Given the description of an element on the screen output the (x, y) to click on. 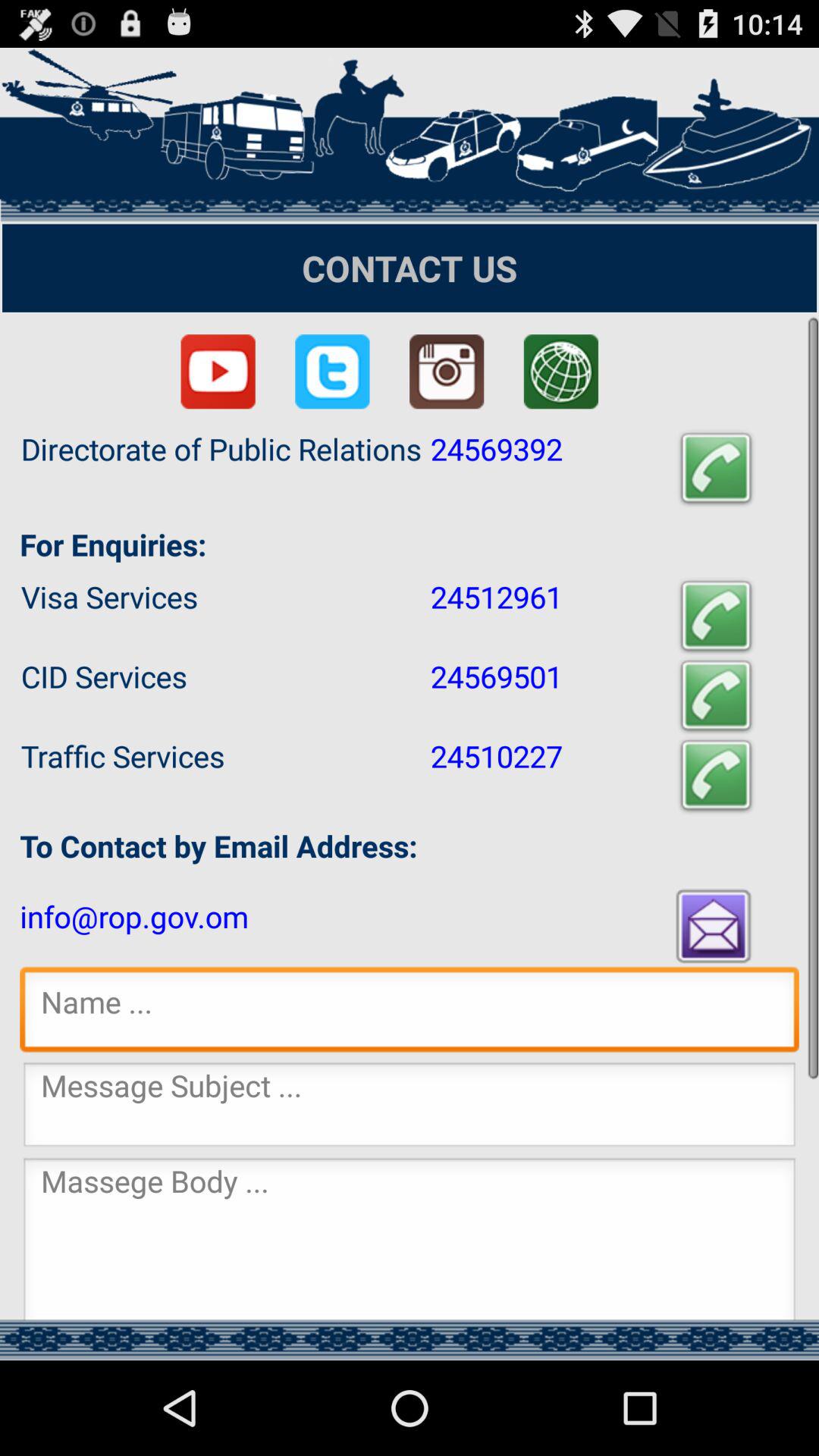
press to email the address (715, 925)
